Given the description of an element on the screen output the (x, y) to click on. 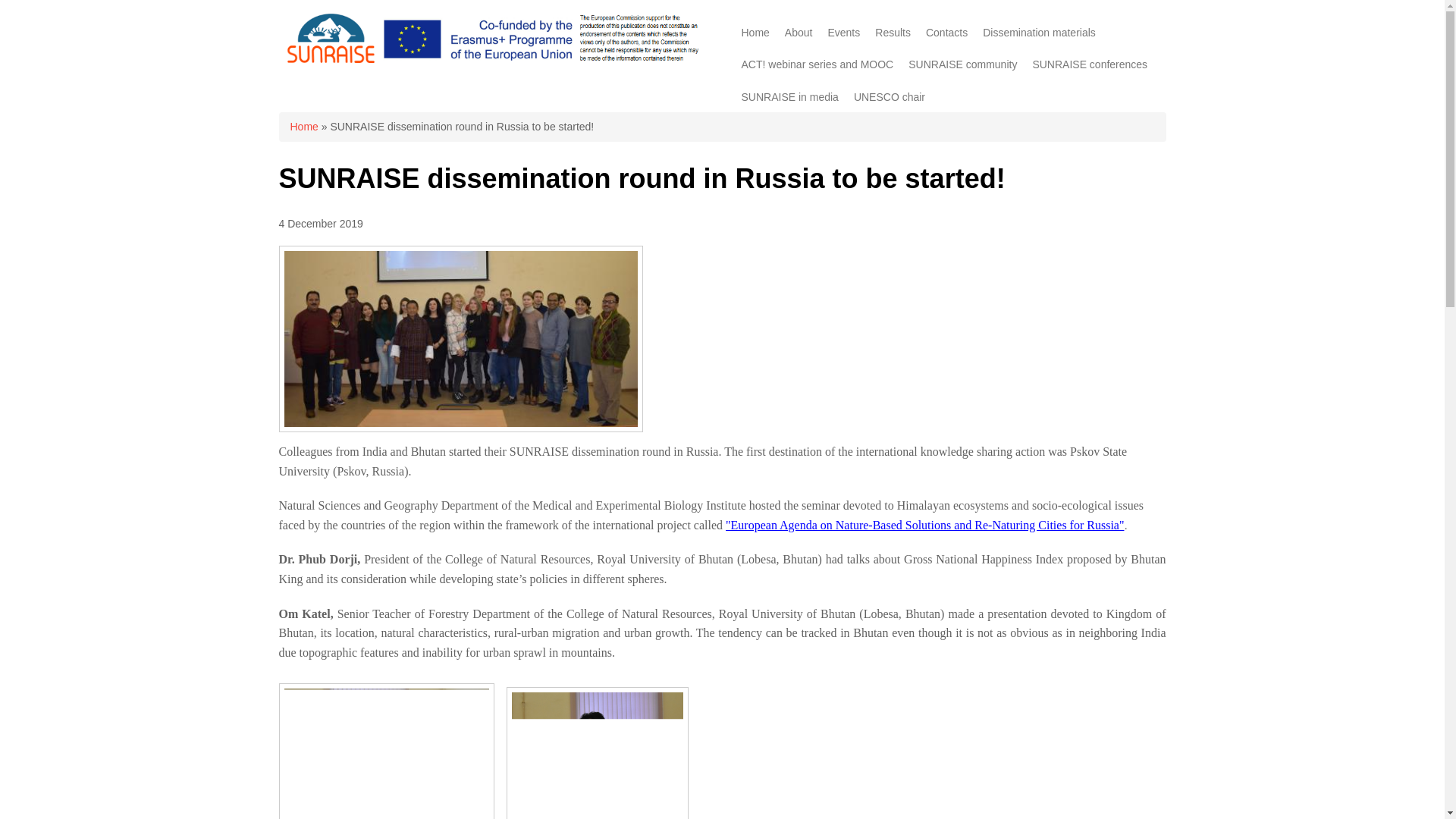
Home (755, 32)
Dissemination materials (1039, 32)
SUNRAISE community (963, 64)
SUNRAISE conferences (1089, 64)
SUNRAISE-related news and information featuring in media (789, 97)
Contacts (946, 32)
About (799, 32)
SUNRAISE in media (789, 97)
UNESCO chair (889, 97)
Home (489, 61)
